Given the description of an element on the screen output the (x, y) to click on. 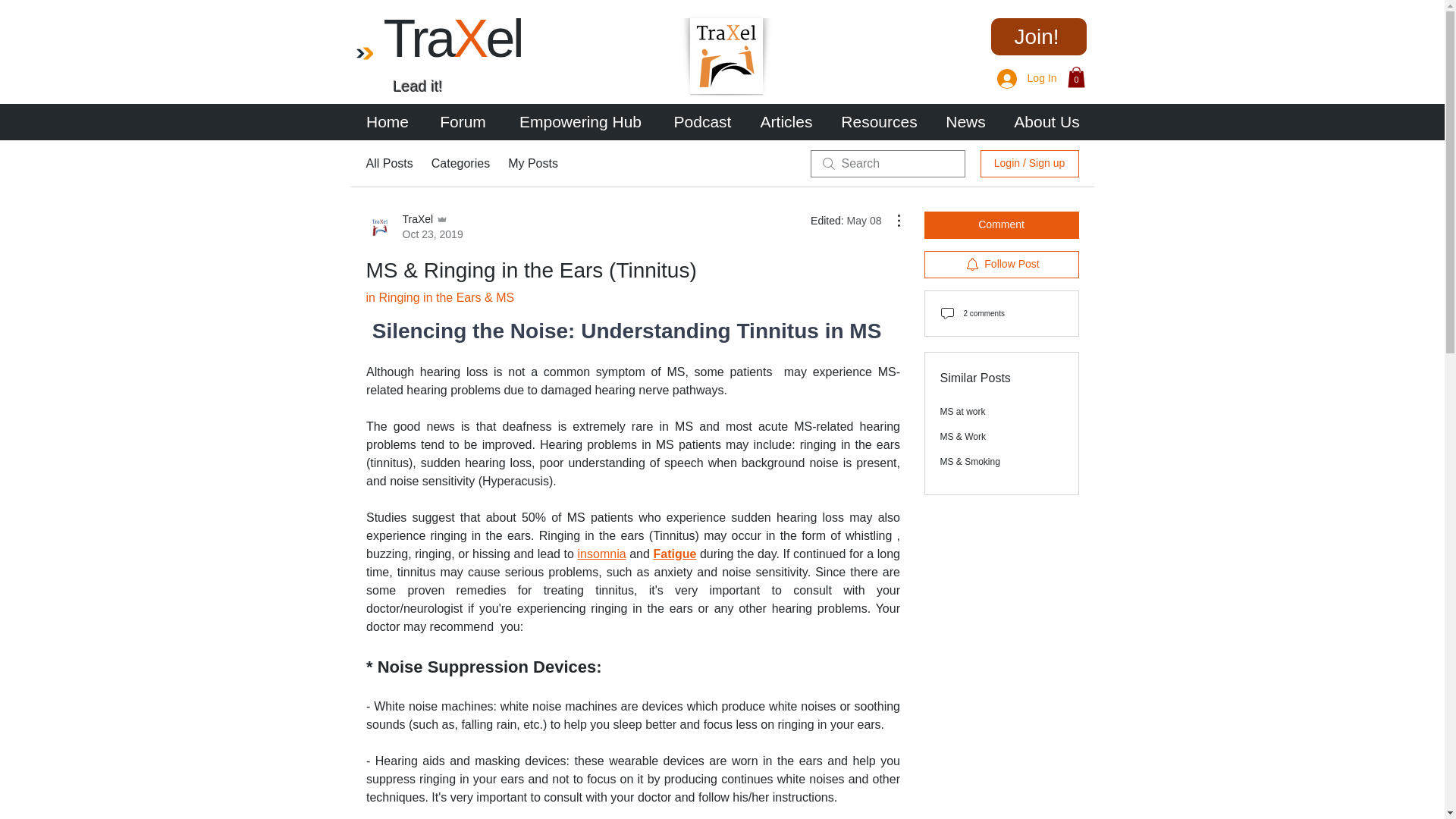
TraXel - Multiple Sclerosis Health Management (363, 52)
Log In (1027, 78)
TraXel - Multiple Sclerosis Community (726, 56)
Forum (414, 226)
Categories (463, 121)
News (459, 163)
About Us (964, 121)
Home (1045, 121)
TraXel (386, 121)
